Given the description of an element on the screen output the (x, y) to click on. 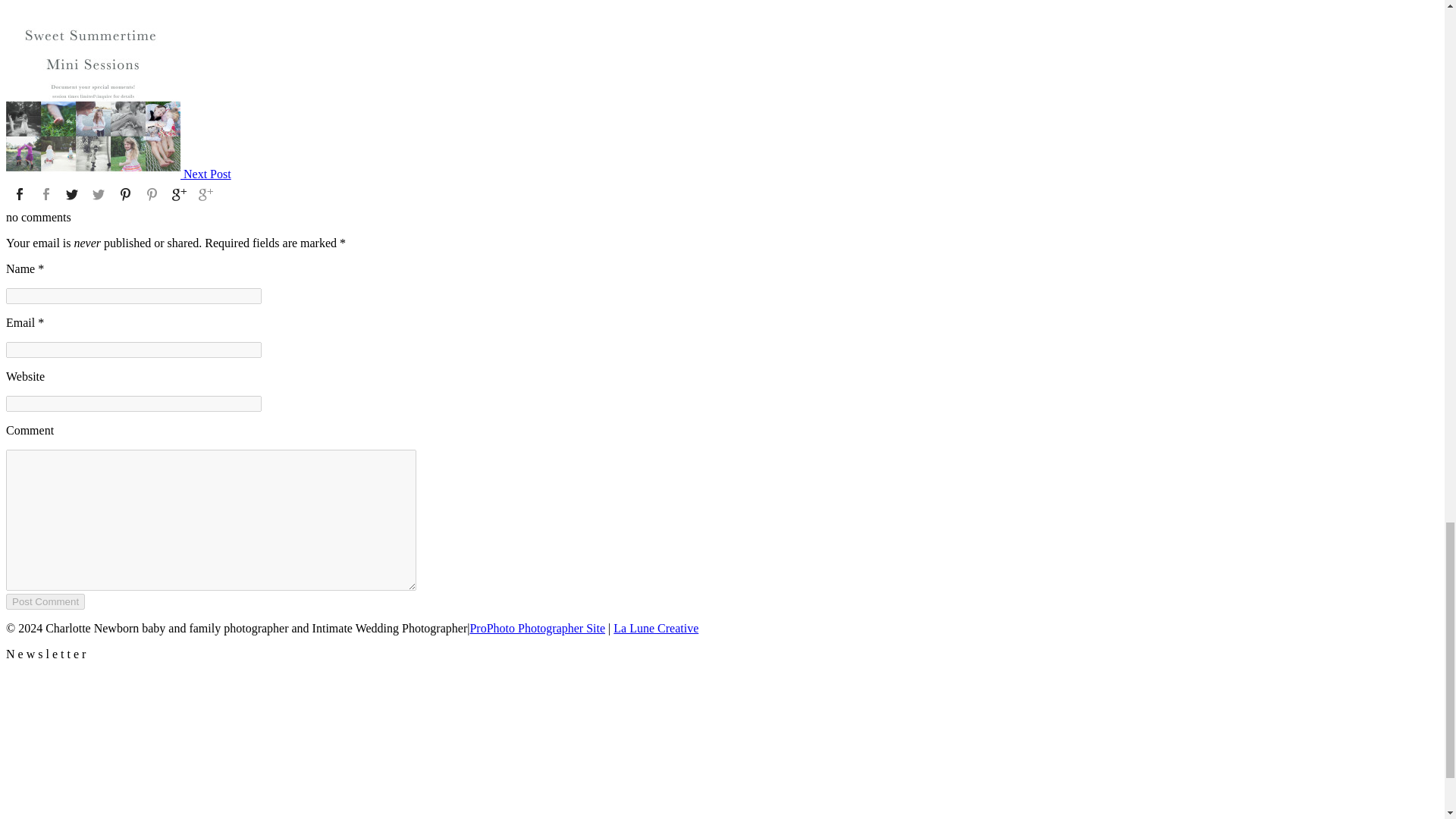
Post Comment (44, 600)
ProPhoto Photographer Site (536, 627)
Post Comment (44, 600)
ProPhoto Photography Template (536, 627)
La Lune Creative (655, 627)
no comments (38, 216)
